Given the description of an element on the screen output the (x, y) to click on. 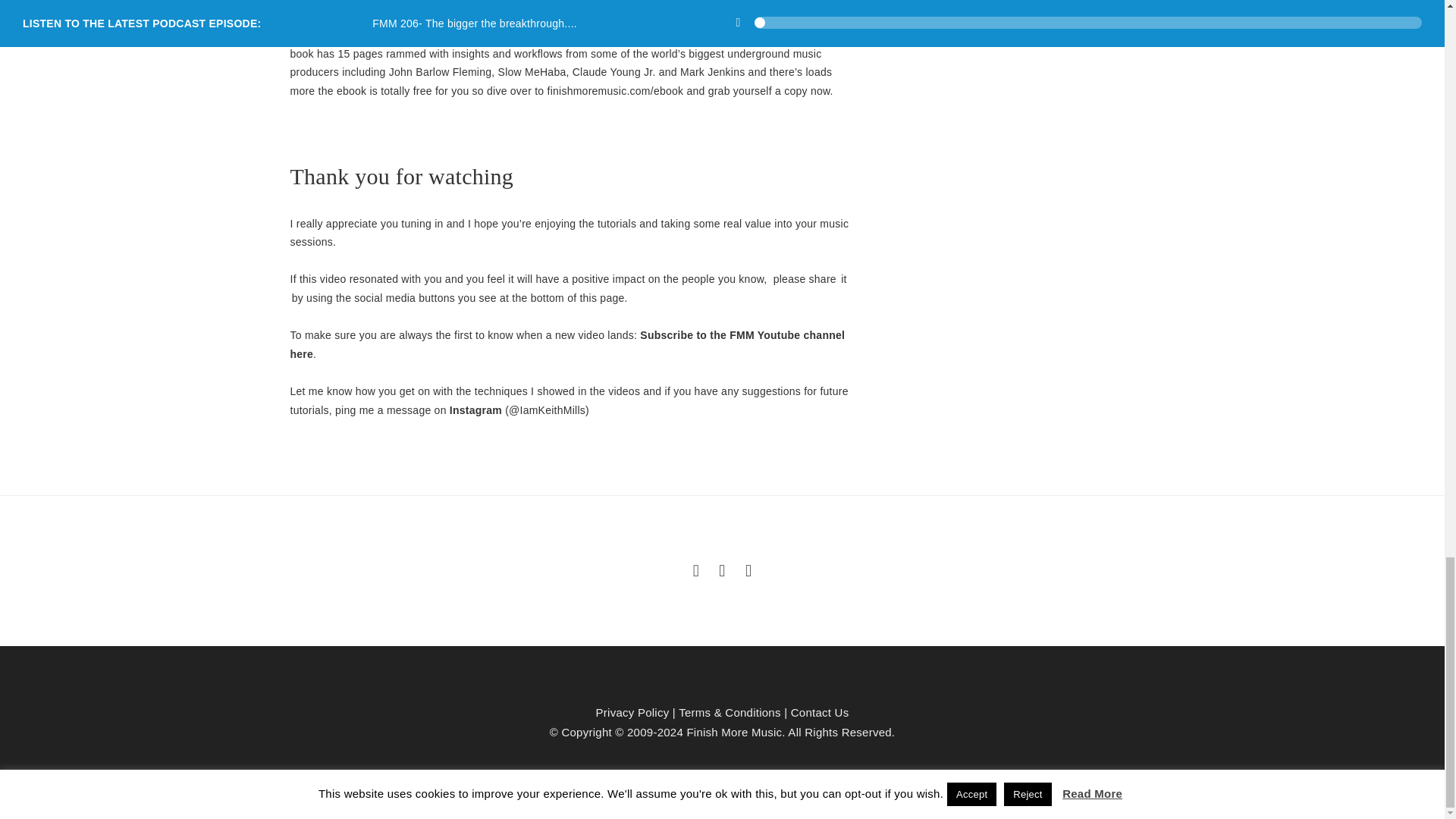
Instagram (475, 410)
Subscribe to the FMM Youtube channel here (566, 344)
Contact Us (819, 712)
To All Works (721, 569)
Privacy Policy (632, 712)
